Given the description of an element on the screen output the (x, y) to click on. 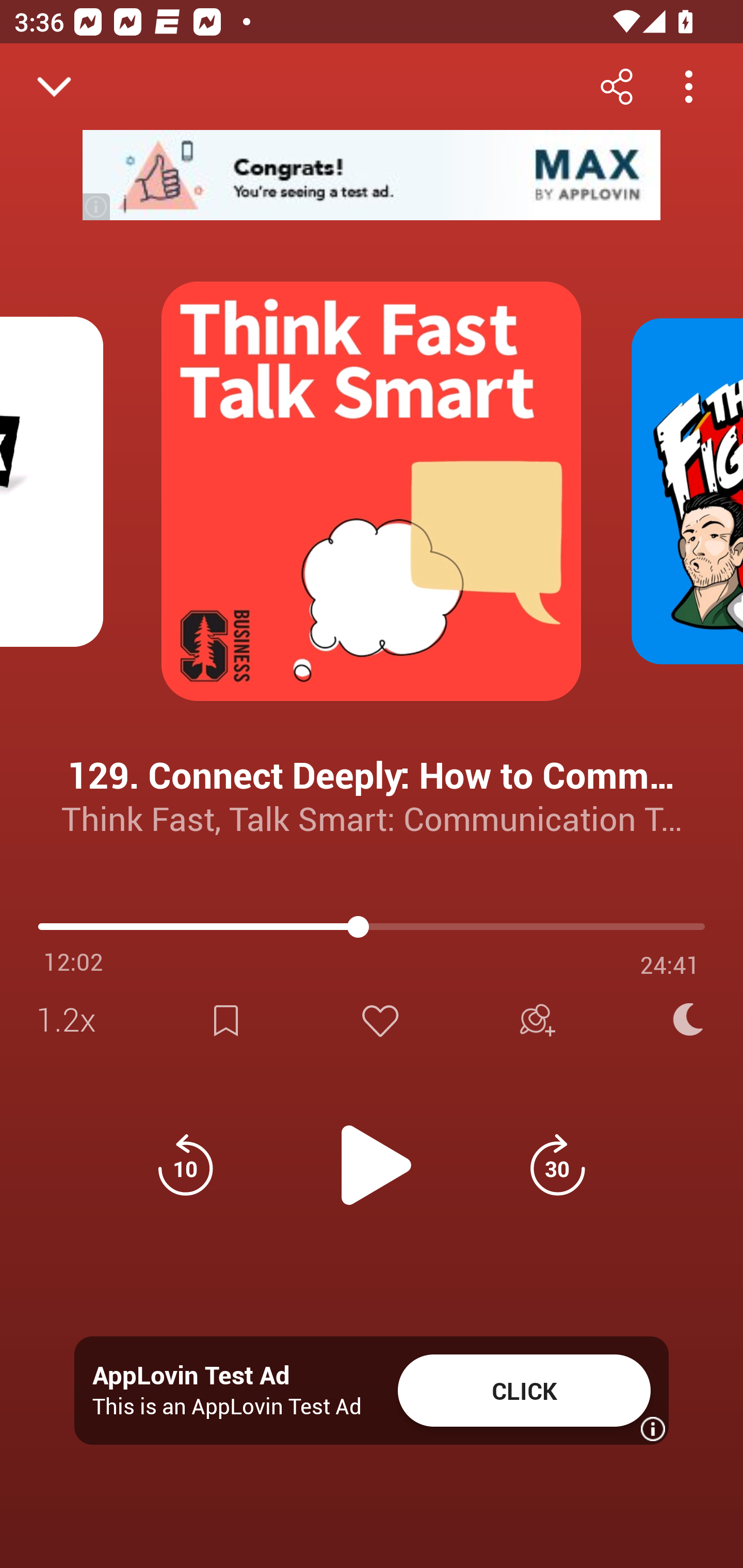
Close fullscreen player (54, 86)
Share (616, 86)
More options (688, 86)
app-monetization (371, 175)
(i) (96, 206)
Think Fast, Talk Smart: Communication Techniques (371, 818)
24:41 (669, 964)
1.2x Speed (72, 1020)
Like (380, 1020)
Play button (371, 1153)
Jump back (185, 1164)
Jump forward (557, 1164)
CLICK (523, 1390)
AppLovin Test Ad (191, 1375)
This is an AppLovin Test Ad (226, 1406)
